Given the description of an element on the screen output the (x, y) to click on. 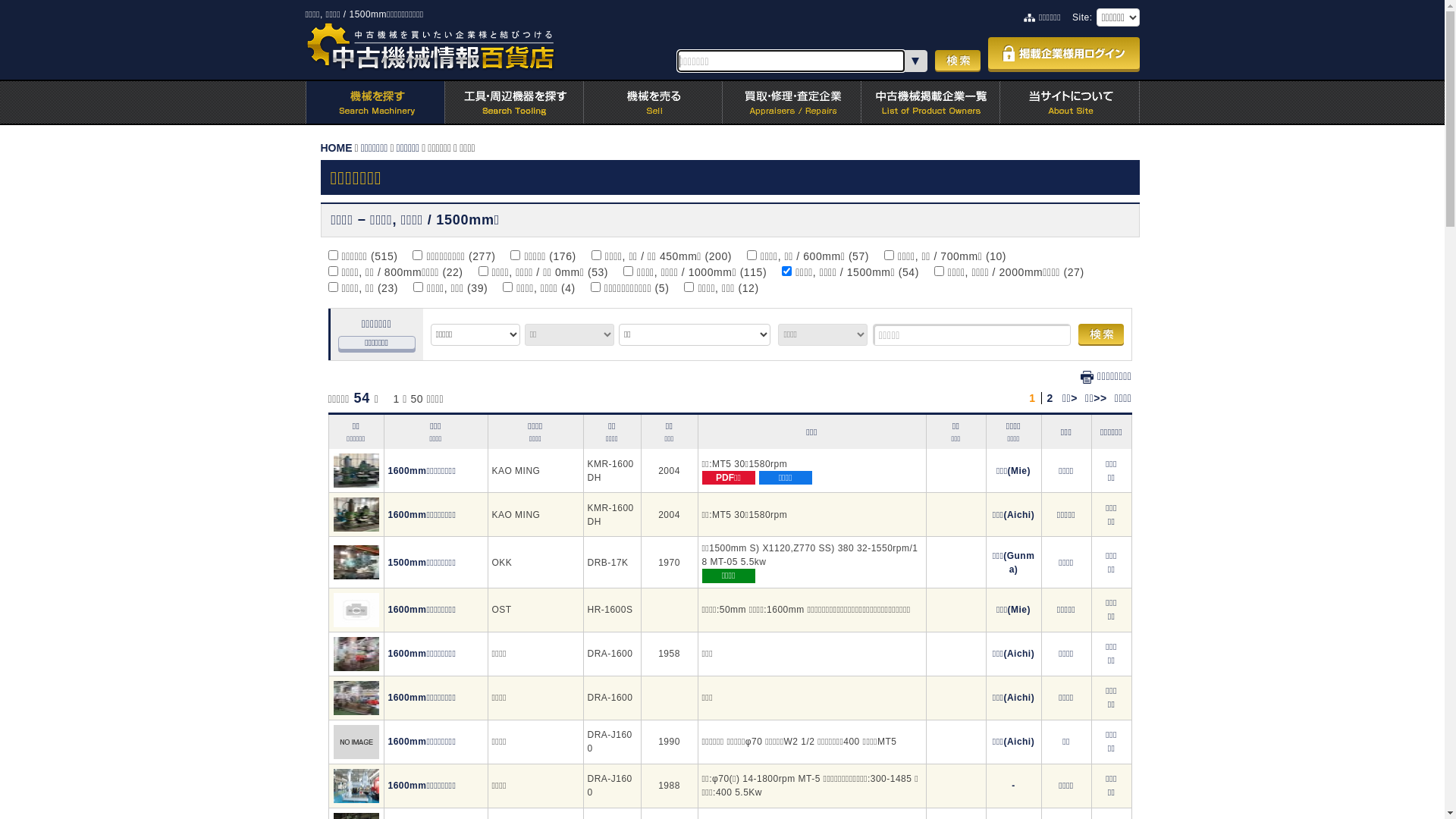
2 Element type: text (1050, 398)
- Element type: text (1012, 785)
